Given the description of an element on the screen output the (x, y) to click on. 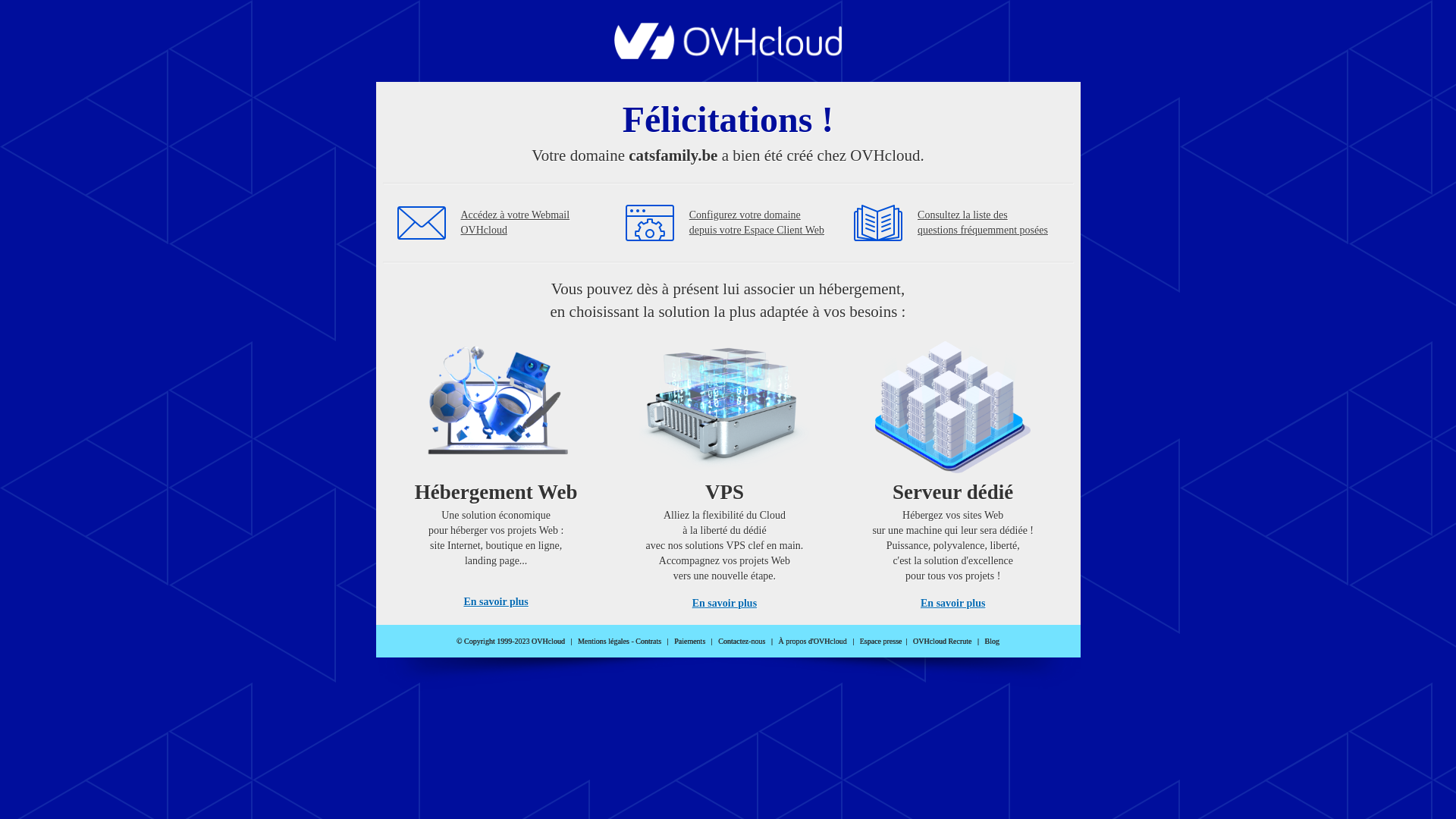
Espace presse Element type: text (880, 641)
Configurez votre domaine
depuis votre Espace Client Web Element type: text (756, 222)
En savoir plus Element type: text (724, 602)
OVHcloud Recrute Element type: text (942, 641)
VPS Element type: hover (724, 469)
Paiements Element type: text (689, 641)
OVHcloud Element type: hover (727, 54)
Blog Element type: text (992, 641)
En savoir plus Element type: text (495, 601)
Contactez-nous Element type: text (741, 641)
En savoir plus Element type: text (952, 602)
